Given the description of an element on the screen output the (x, y) to click on. 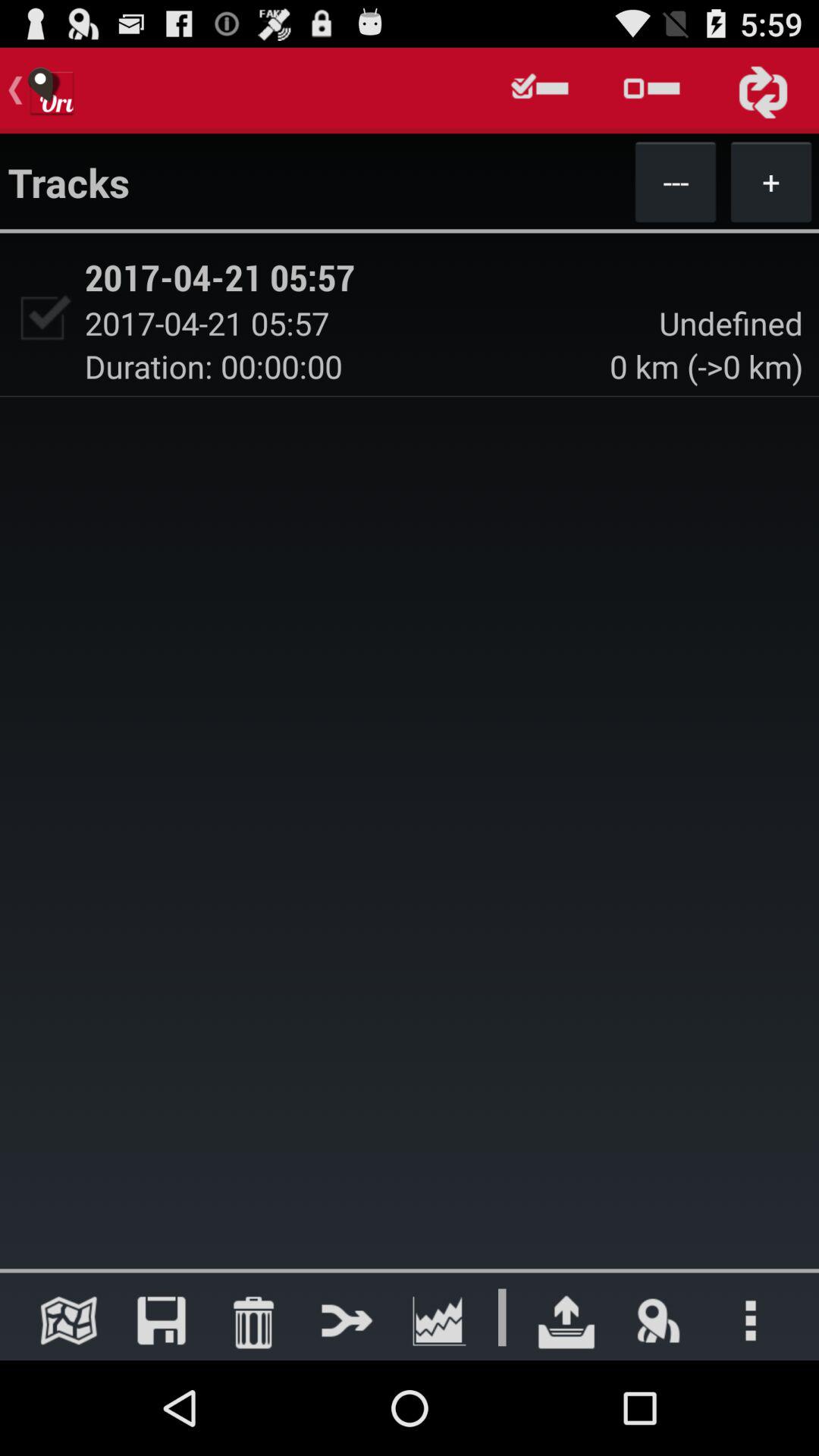
access map (68, 1320)
